Given the description of an element on the screen output the (x, y) to click on. 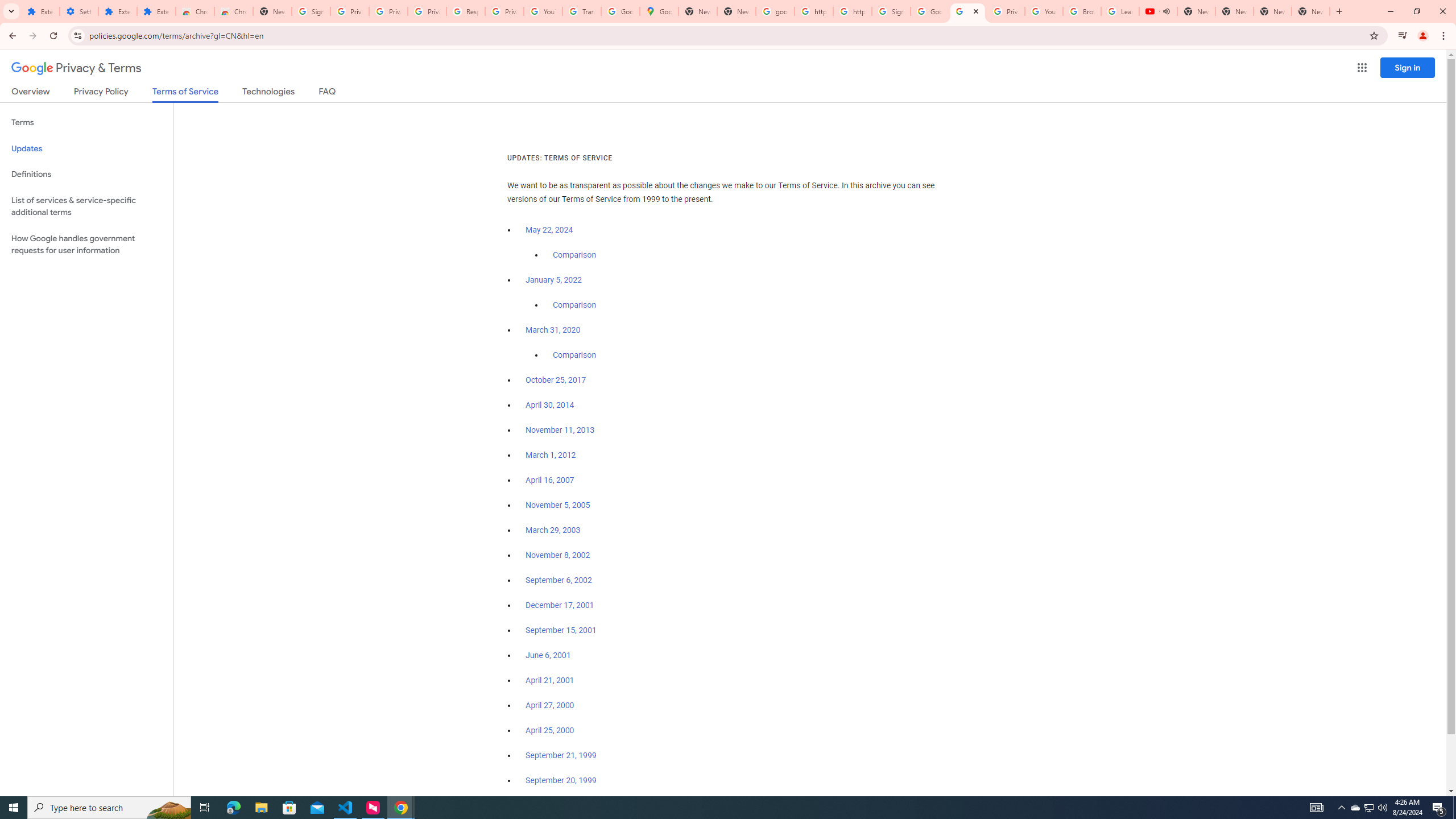
Extensions (156, 11)
April 21, 2001 (550, 679)
FAQ (327, 93)
March 29, 2003 (552, 530)
Settings (79, 11)
January 5, 2022 (553, 280)
September 21, 1999 (560, 755)
April 16, 2007 (550, 480)
Comparison (574, 355)
